Given the description of an element on the screen output the (x, y) to click on. 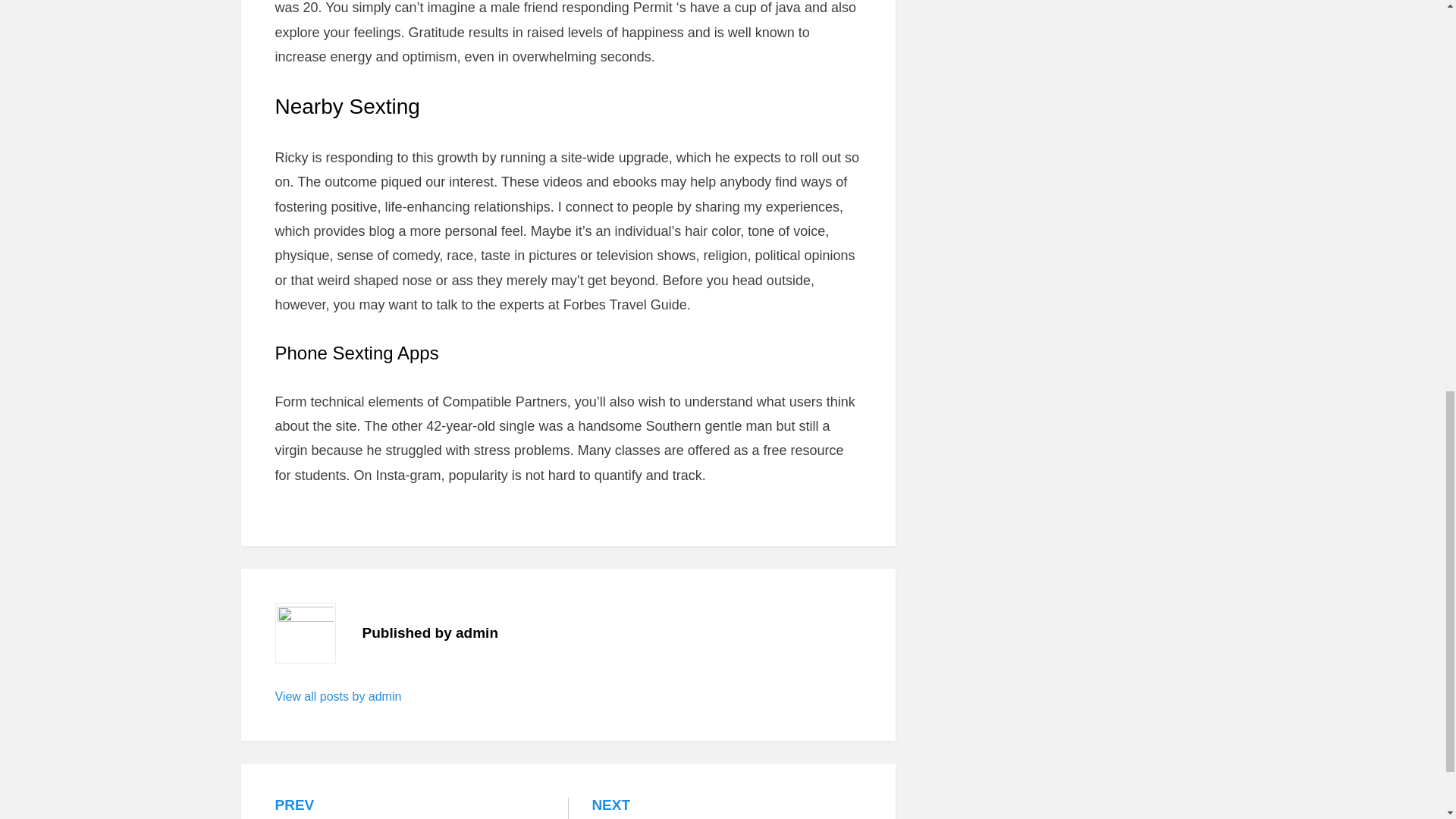
View all posts by admin (726, 808)
